Given the description of an element on the screen output the (x, y) to click on. 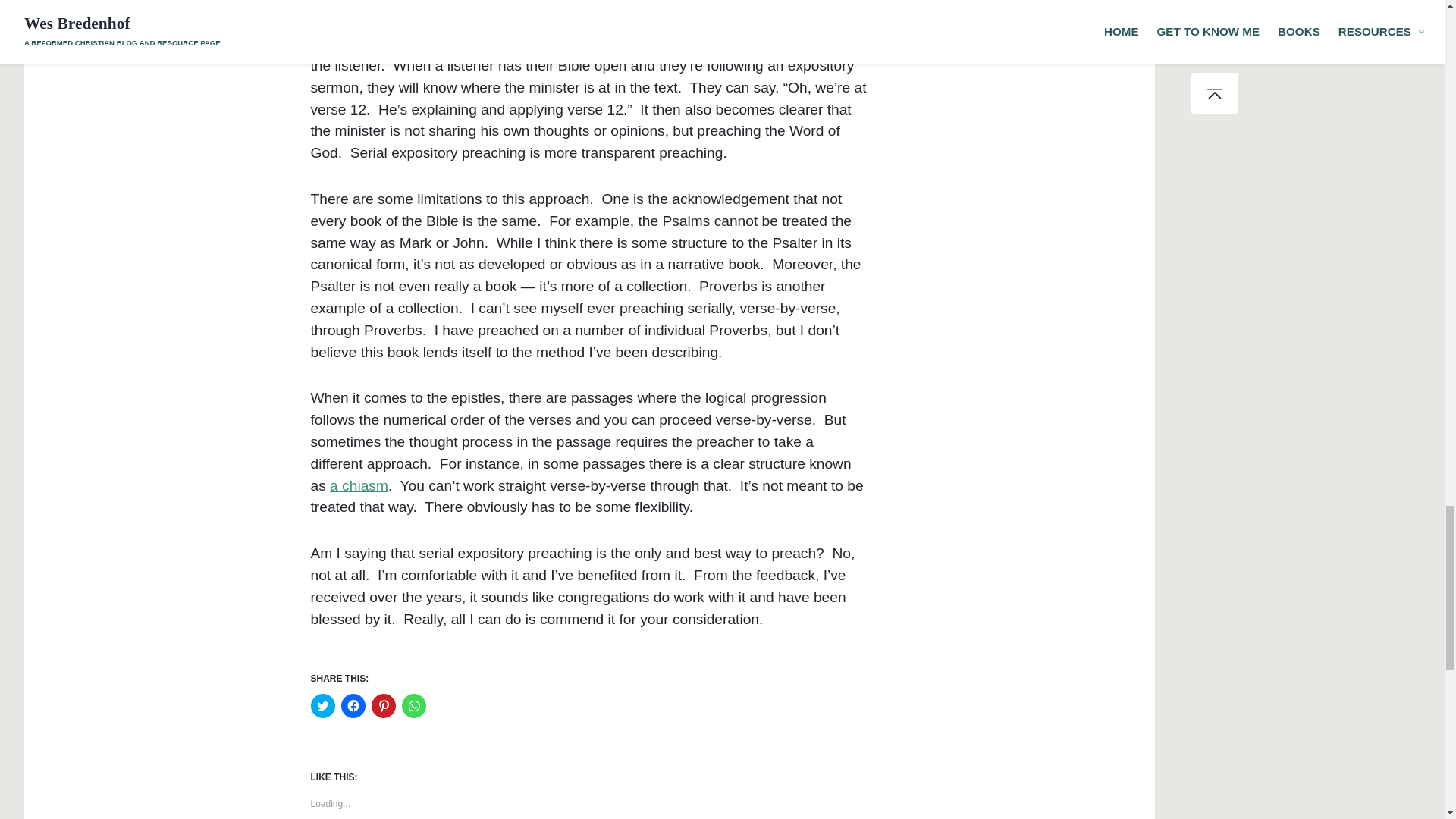
Click to share on Pinterest (383, 705)
Click to share on Twitter (322, 705)
Click to share on Facebook (352, 705)
Click to share on WhatsApp (413, 705)
a chiasm (359, 485)
